Given the description of an element on the screen output the (x, y) to click on. 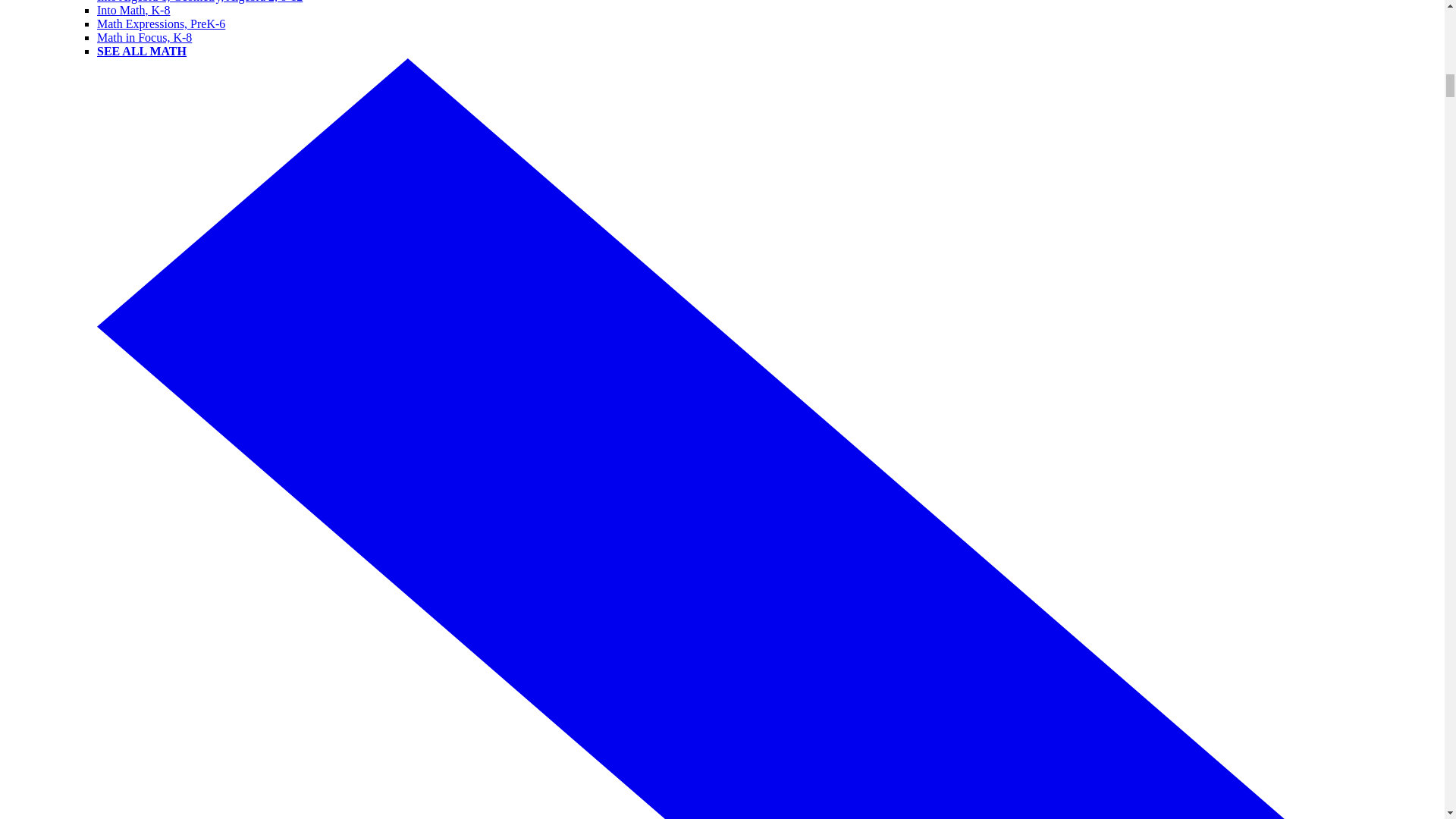
Math in Focus, K-8 (144, 37)
Into Math, K-8 (133, 10)
Into Algebra 1, Geometry, Algebra 2, 8-12 (199, 1)
Math in Focus, K-8 (144, 37)
Into Math, K-8 (133, 10)
Math Expressions, PreK-6 (161, 23)
Math Expressions, PreK-6 (161, 23)
Into Algebra 1, Geometry, Algebra 2, 8-12 (199, 1)
